Given the description of an element on the screen output the (x, y) to click on. 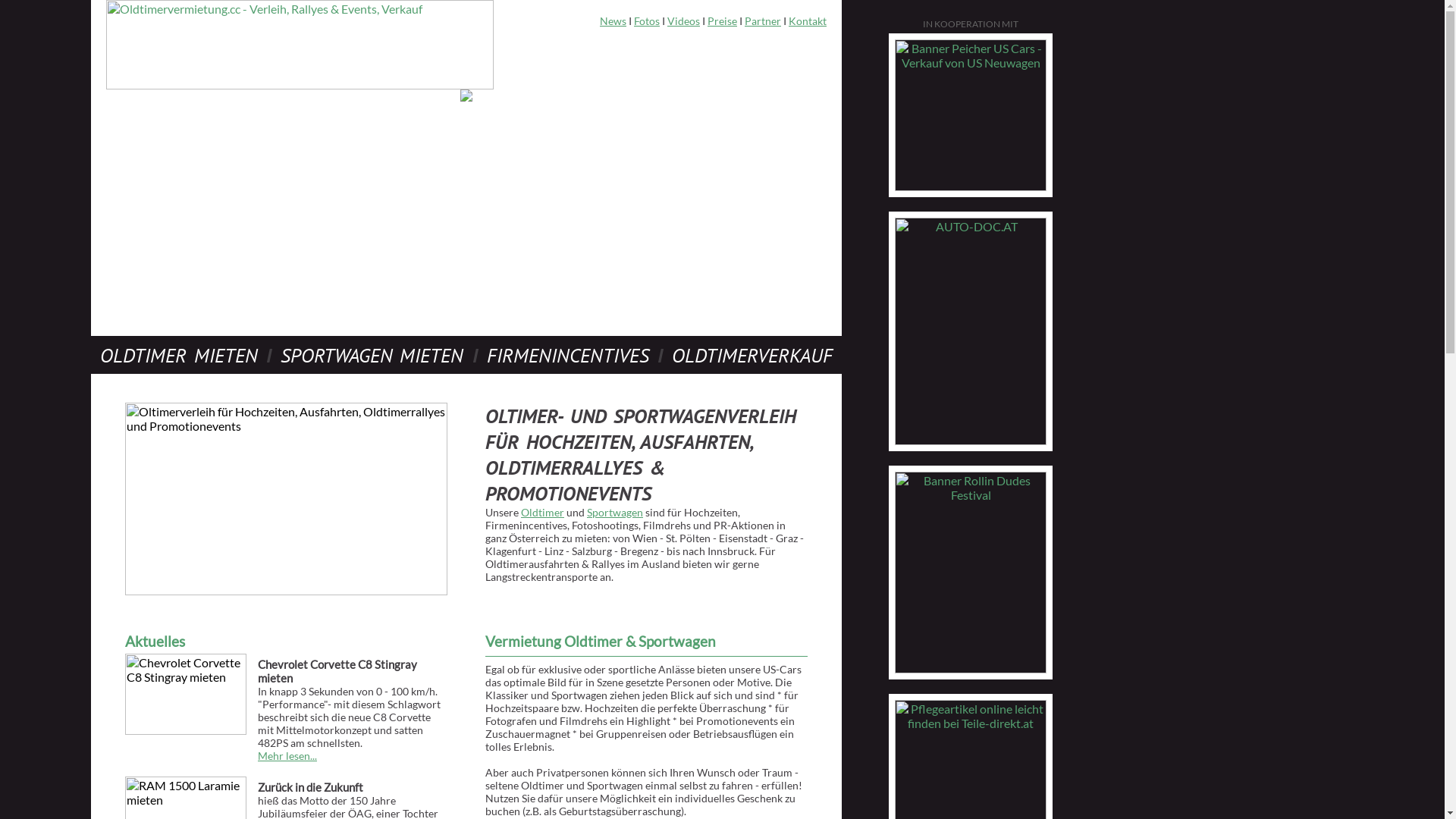
Sportwagen Element type: text (614, 511)
Oldtimer Element type: text (542, 511)
OLDTIMER MIETEN Element type: text (178, 354)
FIRMENINCENTIVES Element type: text (567, 354)
SPORTWAGEN MIETEN Element type: text (372, 354)
Kontakt Element type: text (807, 20)
News Element type: text (612, 20)
Videos Element type: text (683, 20)
Mehr lesen... Element type: text (286, 755)
Partner Element type: text (762, 20)
Fotos Element type: text (646, 20)
OLDTIMERVERKAUF Element type: text (752, 354)
Preise Element type: text (722, 20)
